Given the description of an element on the screen output the (x, y) to click on. 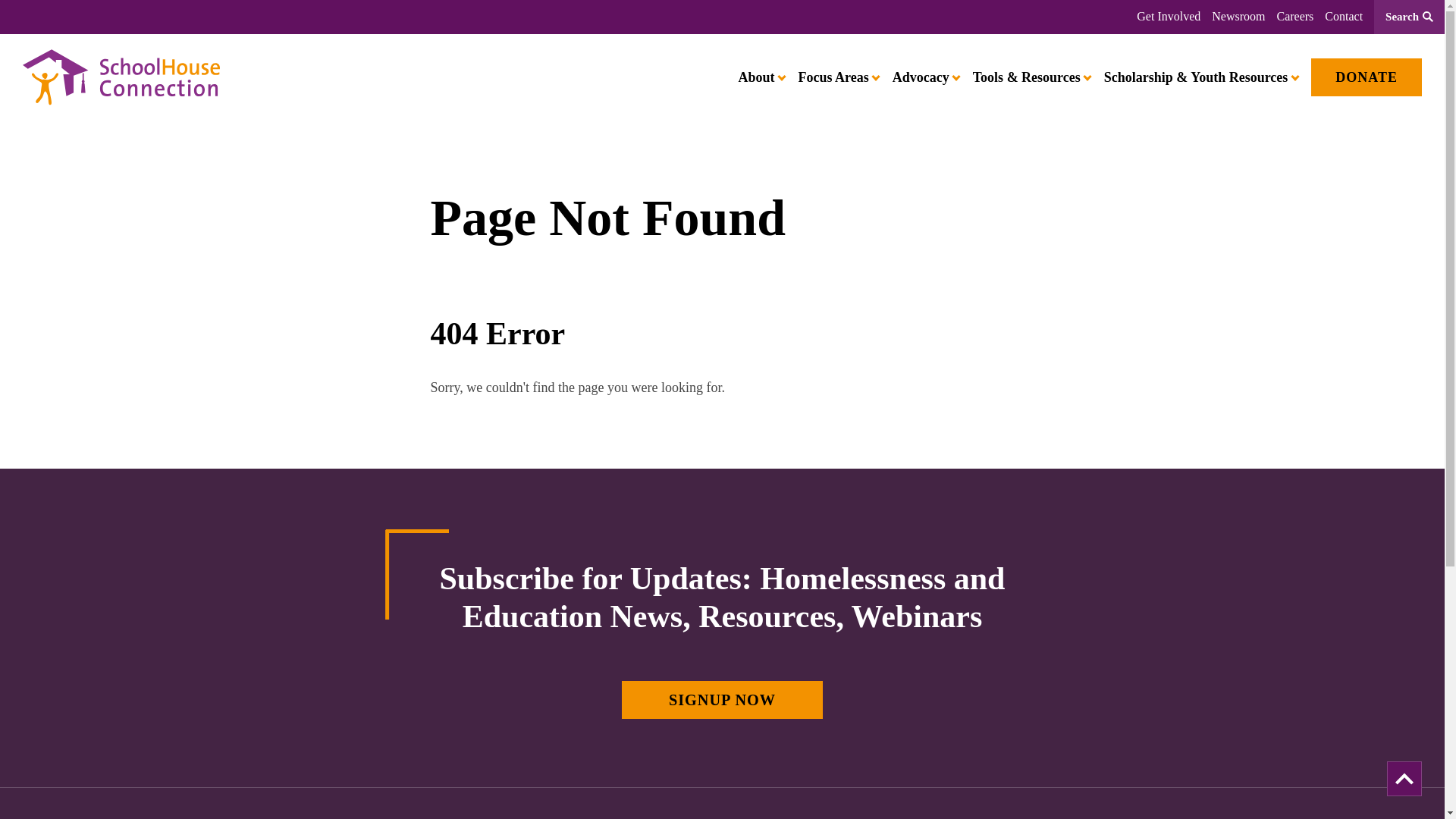
SIGNUP NOW (721, 699)
DONATE (1366, 77)
Get Involved (1168, 17)
Focus Areas (837, 77)
homepage (121, 77)
Contact (1343, 17)
Newsroom (1238, 17)
Careers (1294, 17)
